Given the description of an element on the screen output the (x, y) to click on. 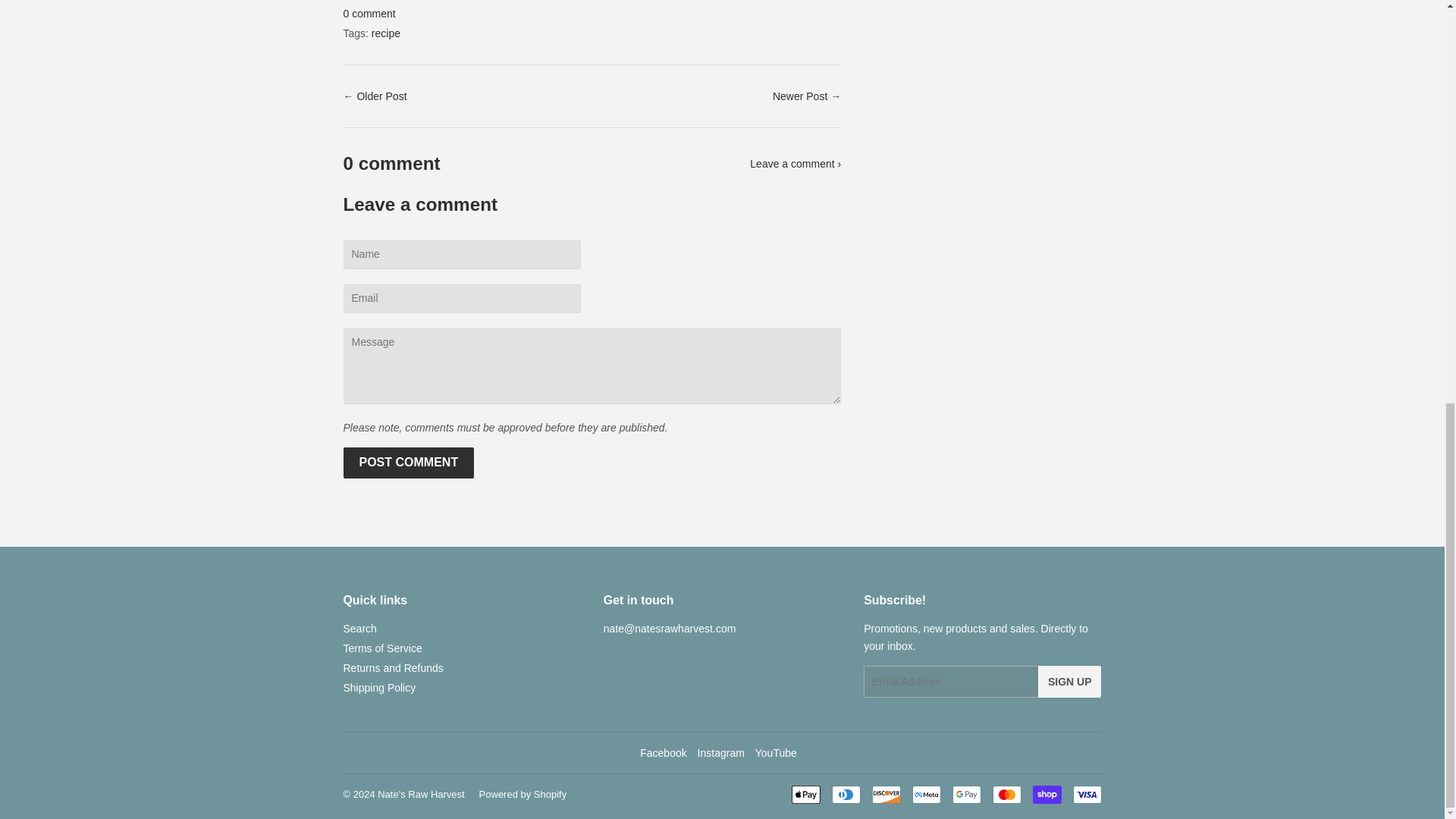
Post comment (408, 462)
Shop Pay (1046, 794)
Google Pay (966, 794)
recipe (385, 33)
Visa (1085, 794)
Apple Pay (806, 794)
Diners Club (845, 794)
Meta Pay (925, 794)
Mastercard (1005, 794)
Discover (886, 794)
Post comment (408, 462)
0 comment (368, 13)
